Given the description of an element on the screen output the (x, y) to click on. 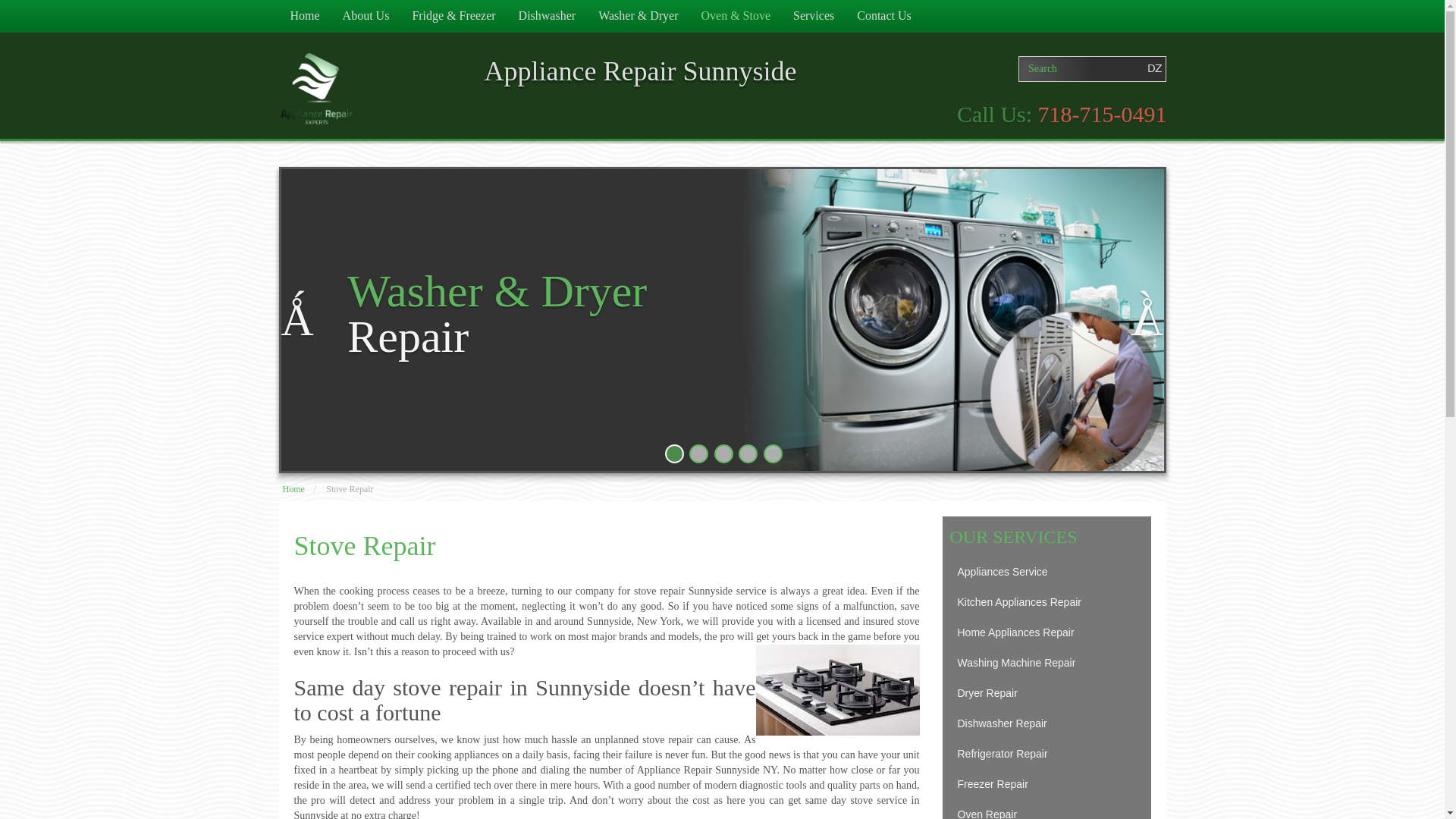
About Us (366, 16)
Home (305, 16)
